Given the description of an element on the screen output the (x, y) to click on. 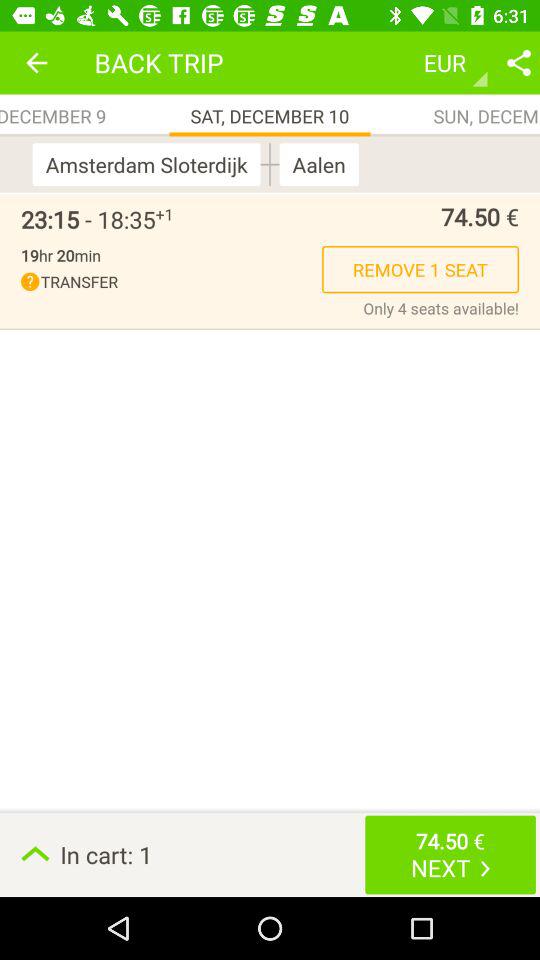
click the icon next to the remove 1 seat icon (171, 281)
